Given the description of an element on the screen output the (x, y) to click on. 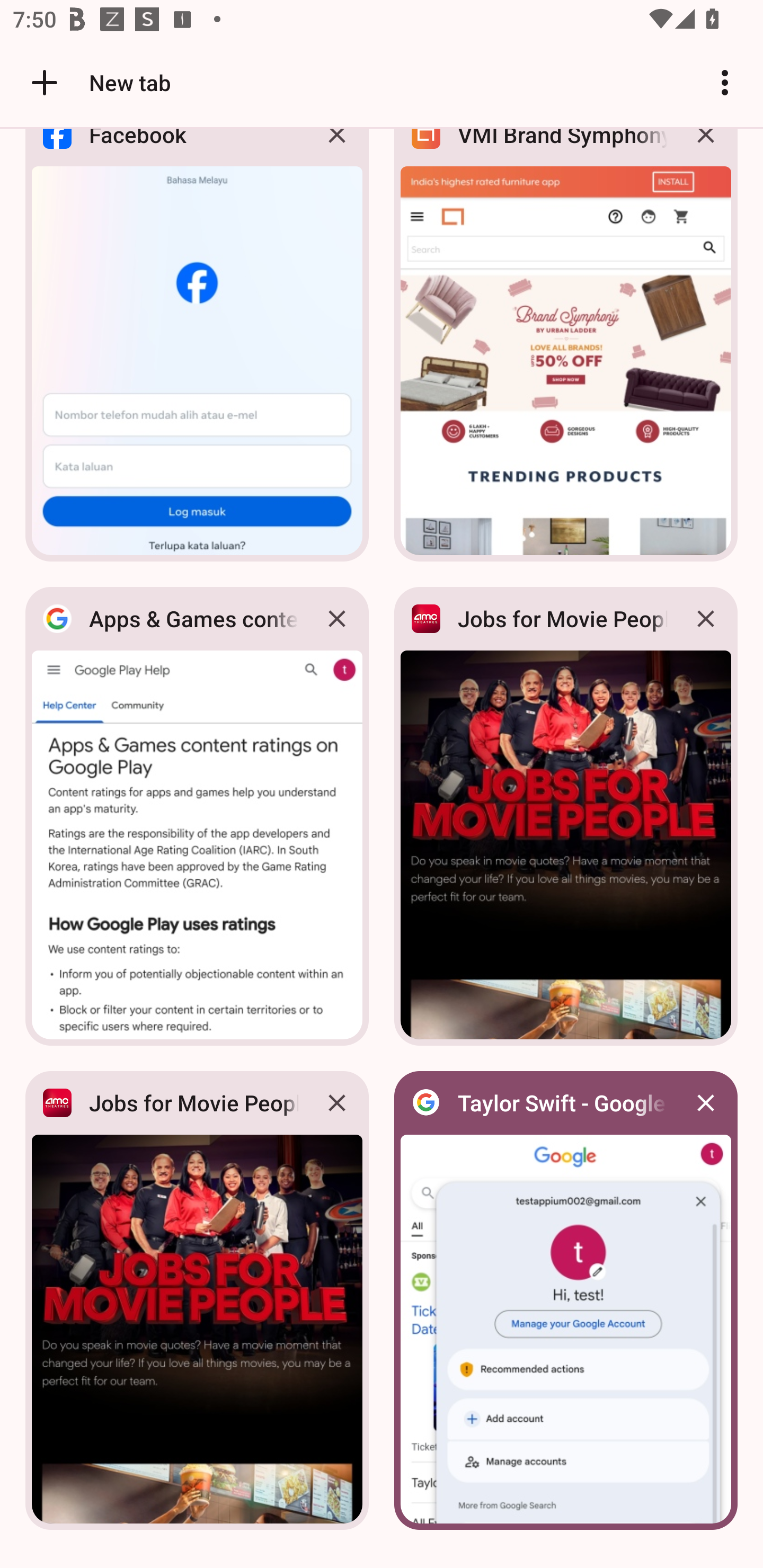
Open the home page (38, 82)
Customize and control Google Chrome (724, 82)
Facebook Facebook, tab Close Facebook tab (196, 350)
Close Facebook tab (337, 149)
Close VMI Brand Symphony - Urban Ladder tab (705, 149)
Close Jobs for Movie People tab (705, 618)
Close Jobs for Movie People tab (337, 1102)
Close Taylor Swift - Google Search tab (705, 1102)
